Given the description of an element on the screen output the (x, y) to click on. 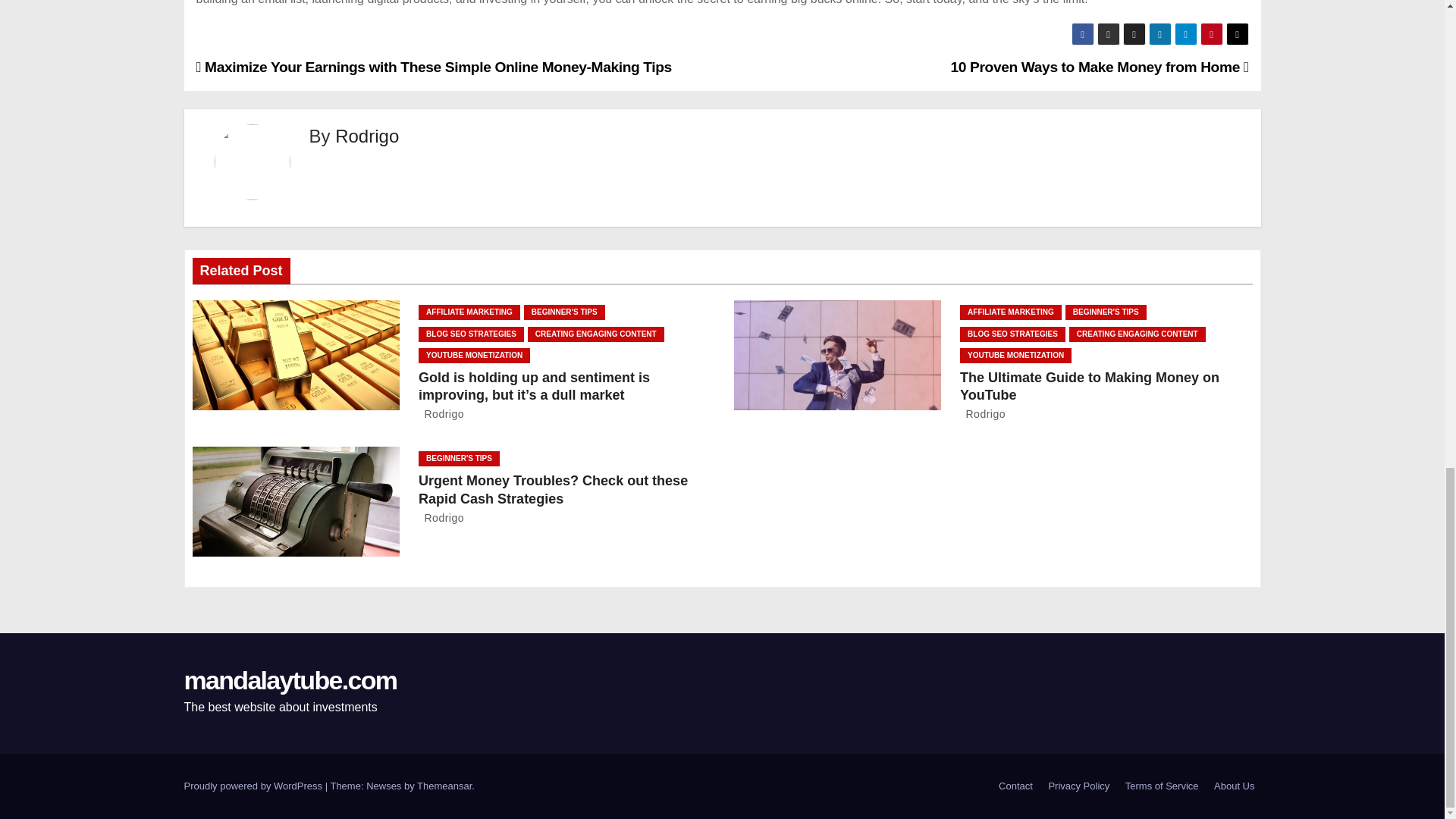
BLOG SEO STRATEGIES (471, 334)
Permalink to: The Ultimate Guide to Making Money on YouTube (1089, 385)
BEGINNER'S TIPS (564, 312)
CREATING ENGAGING CONTENT (595, 334)
YOUTUBE MONETIZATION (474, 355)
10 Proven Ways to Make Money from Home (1099, 66)
AFFILIATE MARKETING (469, 312)
Rodrigo (366, 136)
